Given the description of an element on the screen output the (x, y) to click on. 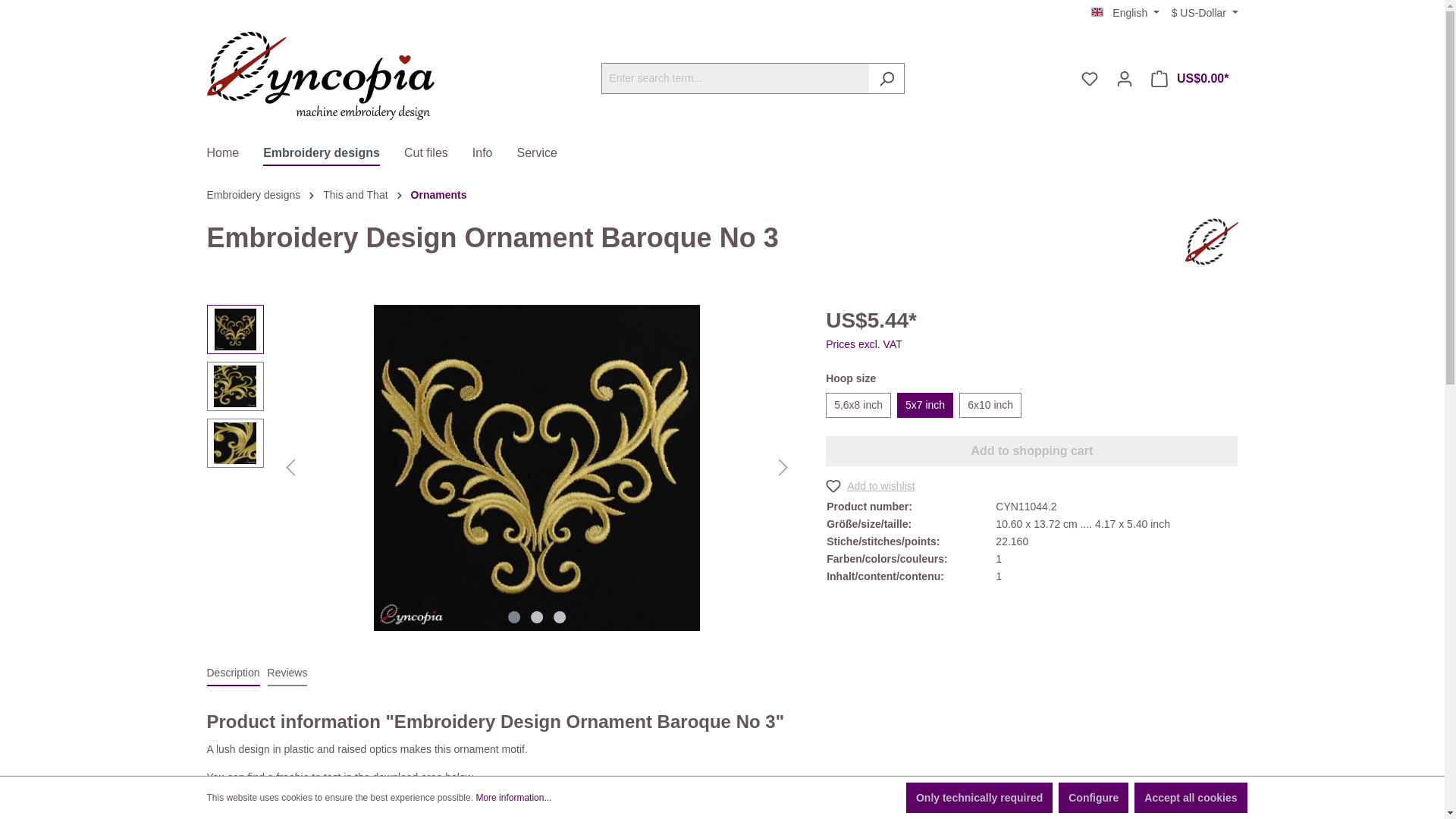
Home (234, 154)
Embroidery designs (333, 154)
Wishlist (1088, 78)
English (1124, 12)
Your account (1123, 78)
Embroidery designs (333, 154)
Home (234, 154)
Go to homepage (319, 75)
Shopping cart (1189, 78)
Service (548, 154)
Cut files (437, 154)
Info (493, 154)
